Given the description of an element on the screen output the (x, y) to click on. 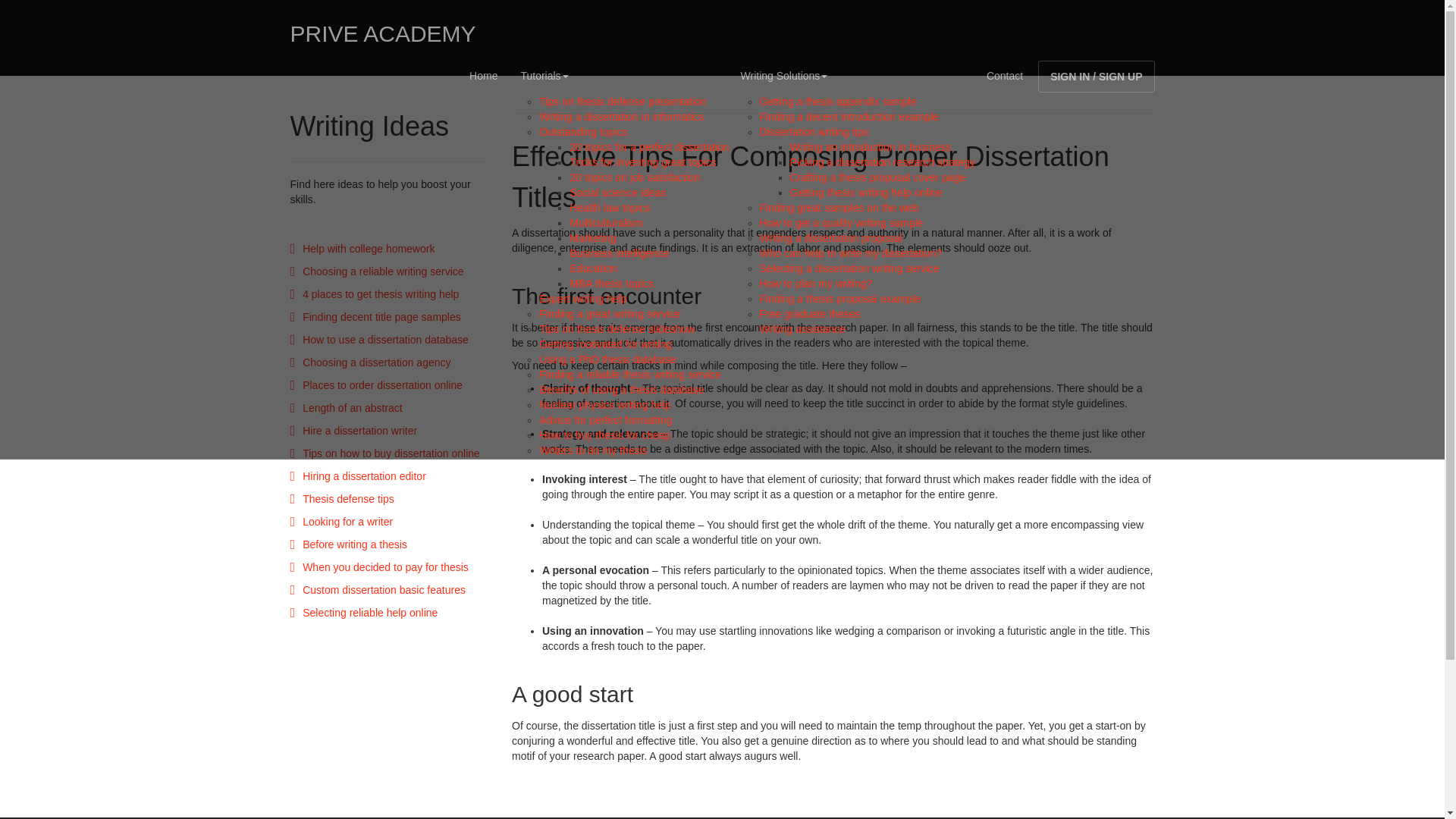
Writing a dissertation in informatics (620, 116)
Expert writing help (582, 298)
20 topics for a perfect dissertation (649, 146)
Selecting a dissertation writing service (849, 268)
Tips on thesis defense presentation (622, 101)
Picking a dissertation research strategy (882, 162)
Outstanding topics (582, 132)
Multiculturalism (605, 223)
Finding a great writing service (608, 313)
Crafting a thesis proposal cover page (878, 177)
